Given the description of an element on the screen output the (x, y) to click on. 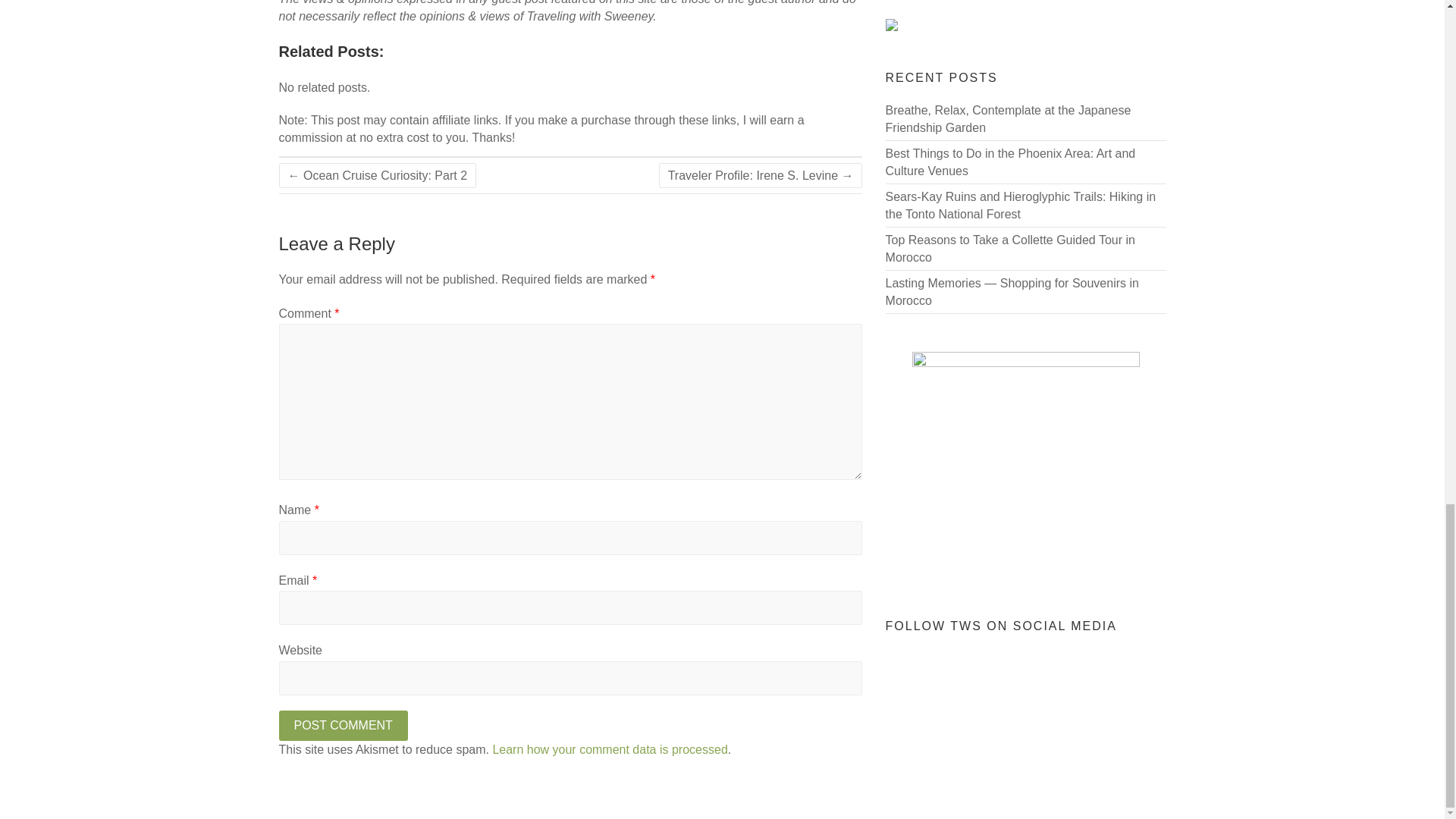
Post Comment (343, 725)
